Given the description of an element on the screen output the (x, y) to click on. 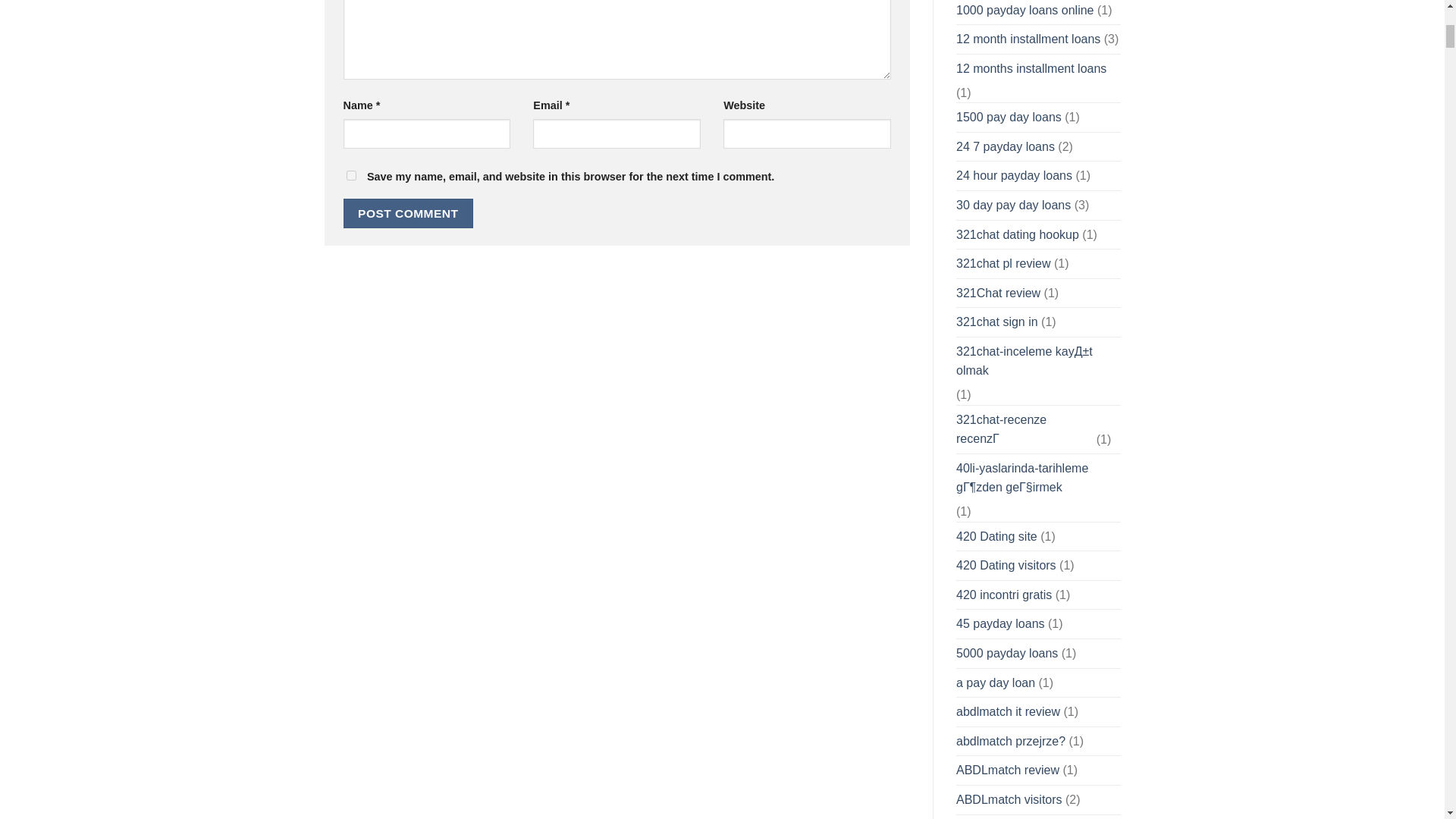
Post Comment (407, 213)
Post Comment (407, 213)
yes (350, 175)
